Given the description of an element on the screen output the (x, y) to click on. 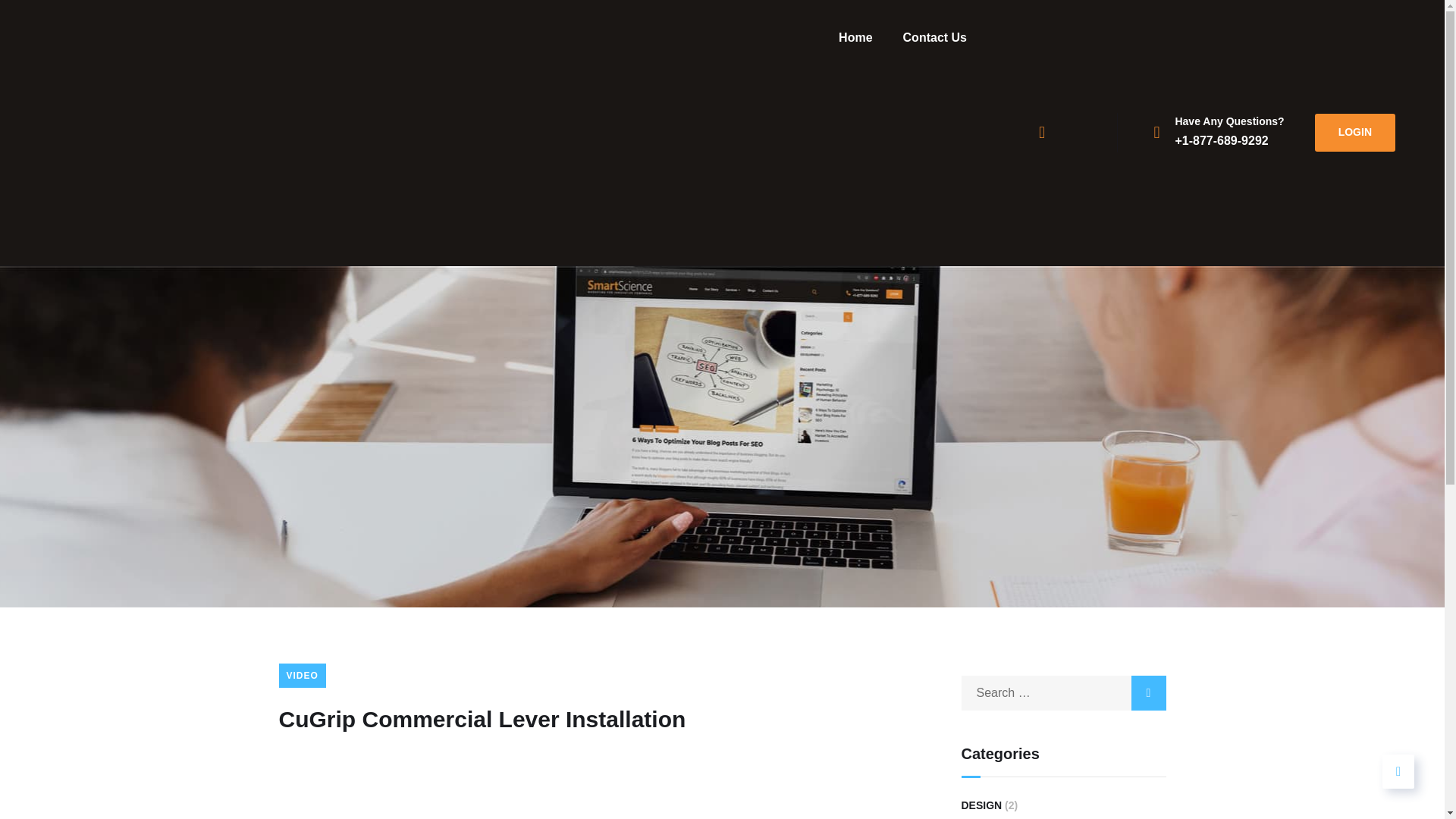
LOGIN (1354, 132)
DESIGN (981, 805)
VIDEO (302, 675)
